Given the description of an element on the screen output the (x, y) to click on. 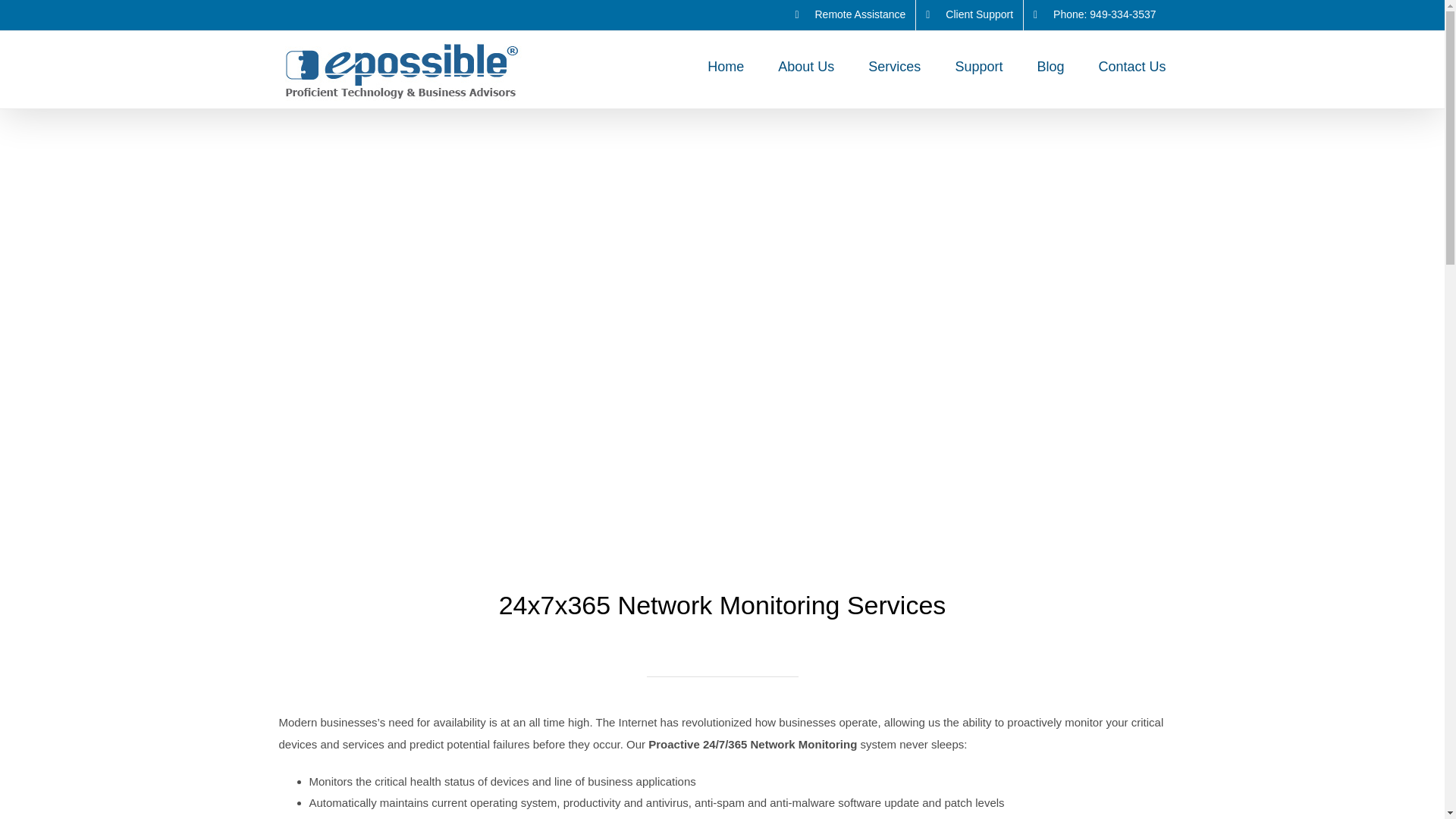
Remote Assistance (849, 15)
Phone: 949-334-3537 (1094, 15)
Client Support (969, 15)
Contact Us (1131, 64)
CONTACT US (490, 346)
